Given the description of an element on the screen output the (x, y) to click on. 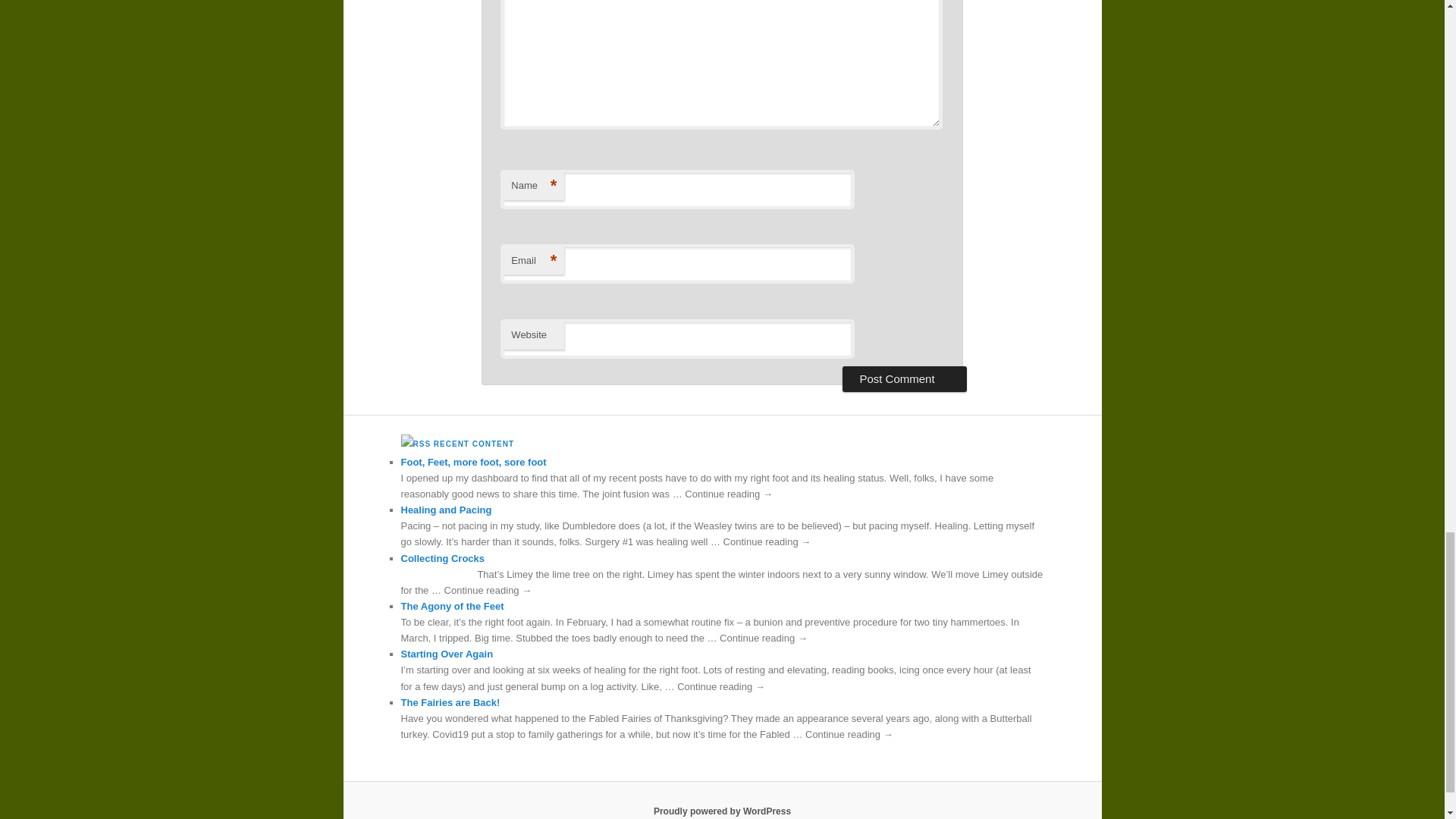
Collecting Crocks (442, 558)
Healing and Pacing (446, 509)
Foot, Feet, more foot, sore foot (473, 461)
Post Comment (904, 379)
Semantic Personal Publishing Platform (721, 810)
Post Comment (904, 379)
RECENT CONTENT (473, 443)
